Given the description of an element on the screen output the (x, y) to click on. 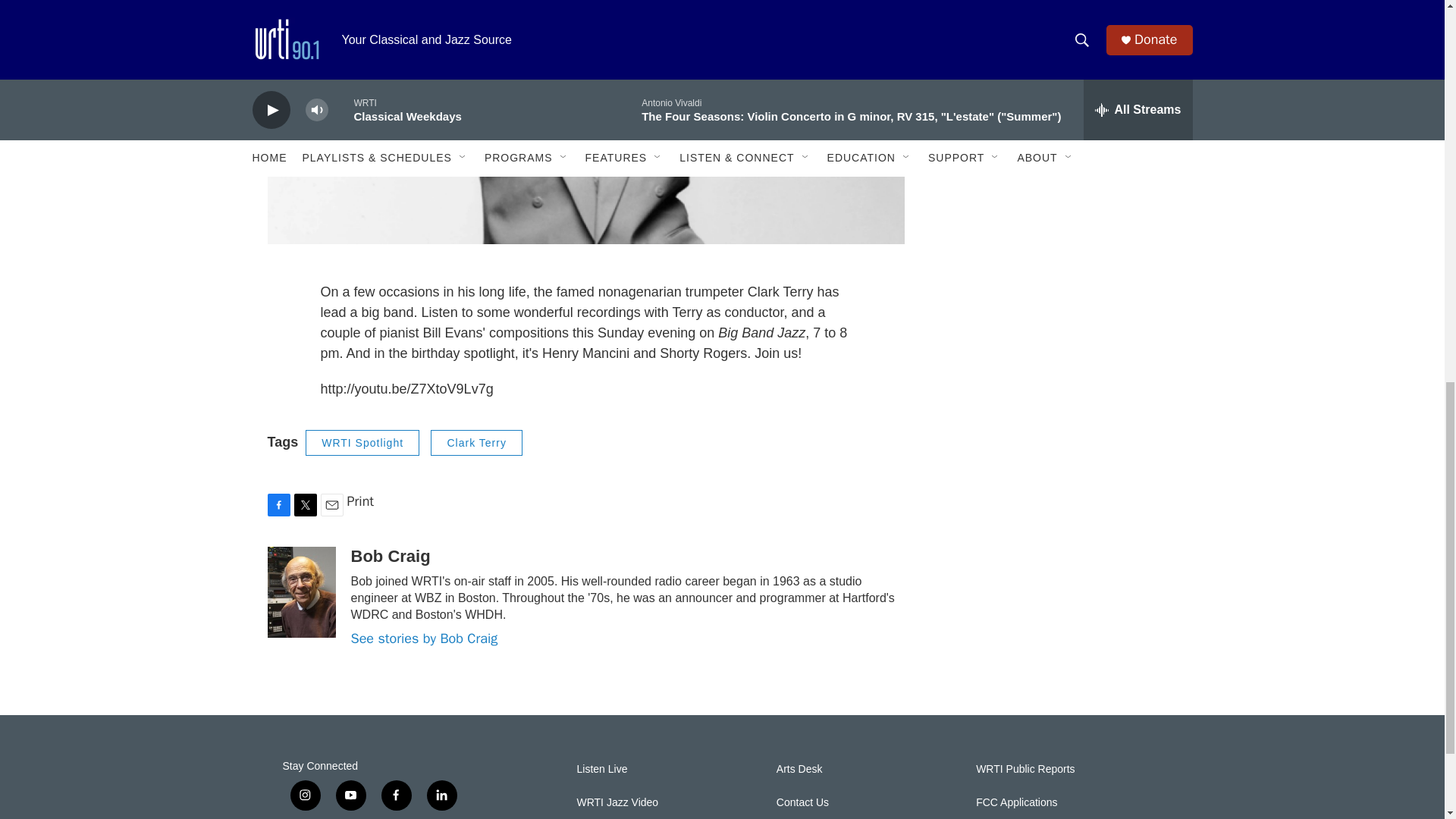
3rd party ad content (1062, 380)
3rd party ad content (1062, 585)
3rd party ad content (1062, 175)
